Given the description of an element on the screen output the (x, y) to click on. 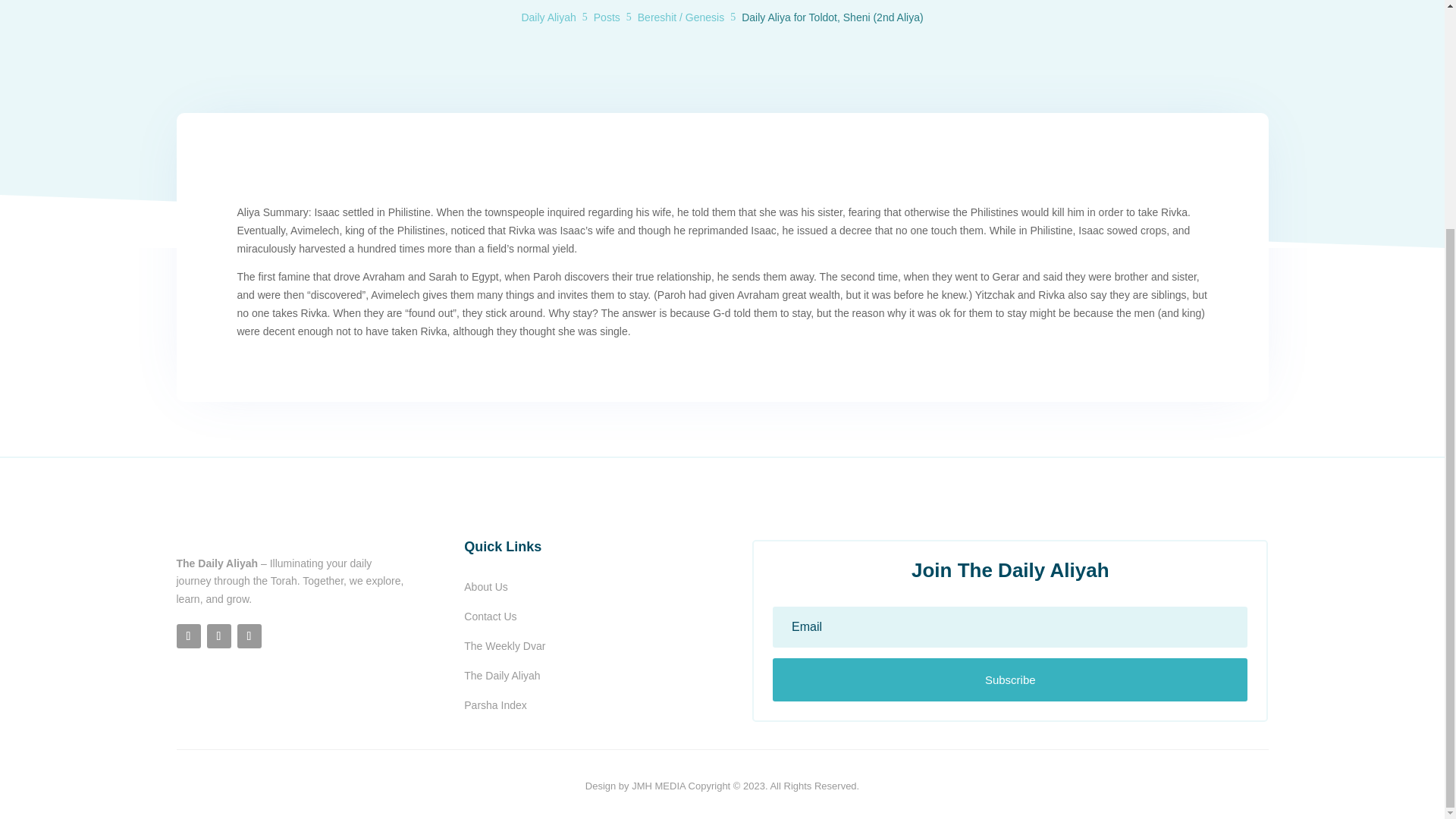
The Weekly Dvar (504, 645)
Subscribe (1010, 679)
The Daily Aliyah (502, 675)
Contact Us (490, 616)
Daily Aliyah (548, 17)
Parsha Index (495, 705)
Follow on Facebook (188, 636)
Follow on X (218, 636)
About Us (486, 586)
Posts (607, 17)
Follow on LinkedIn (247, 636)
